Given the description of an element on the screen output the (x, y) to click on. 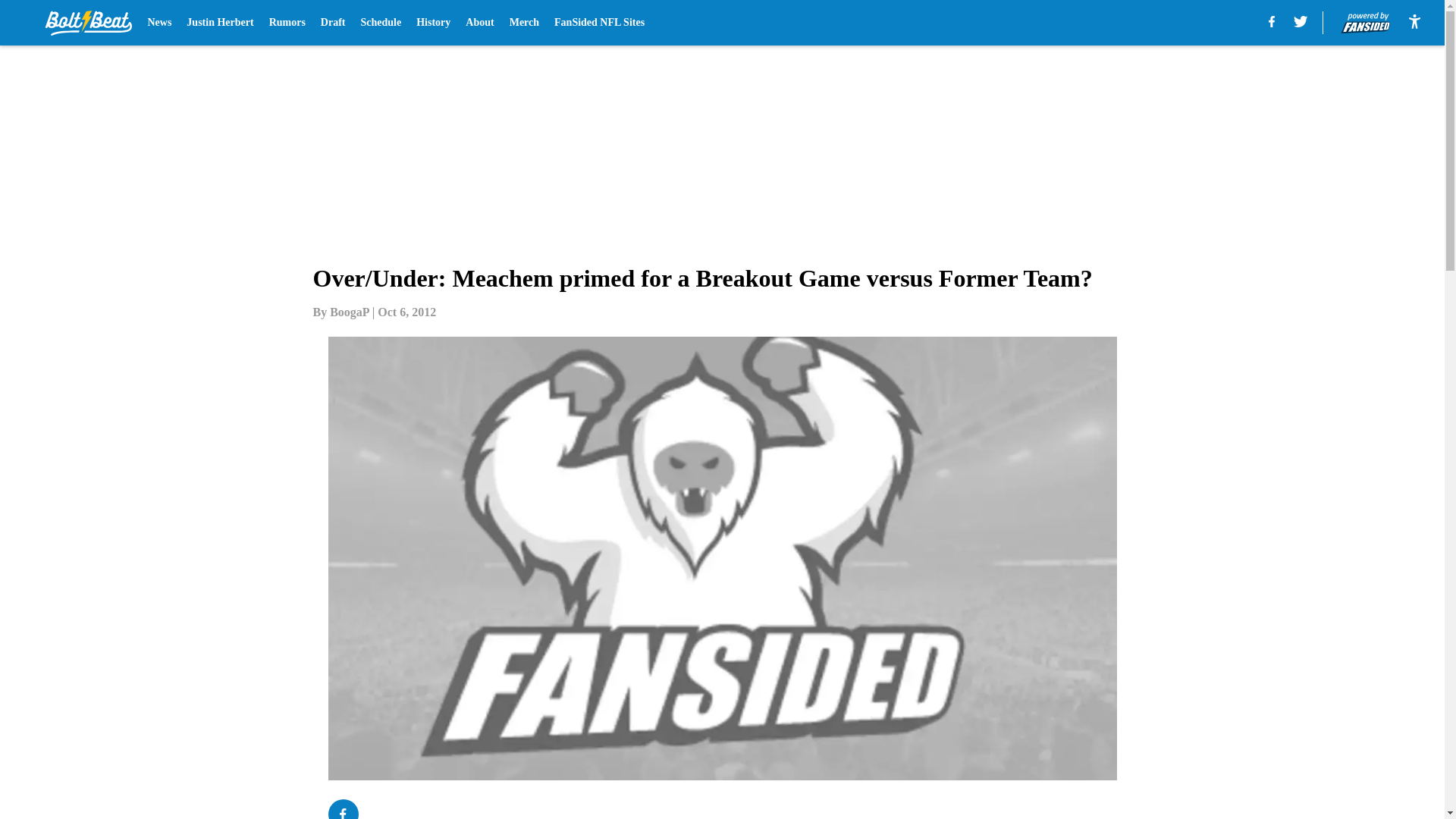
Merch (523, 22)
Schedule (381, 22)
Rumors (287, 22)
News (159, 22)
FanSided NFL Sites (599, 22)
Draft (333, 22)
Justin Herbert (219, 22)
History (432, 22)
About (479, 22)
